Given the description of an element on the screen output the (x, y) to click on. 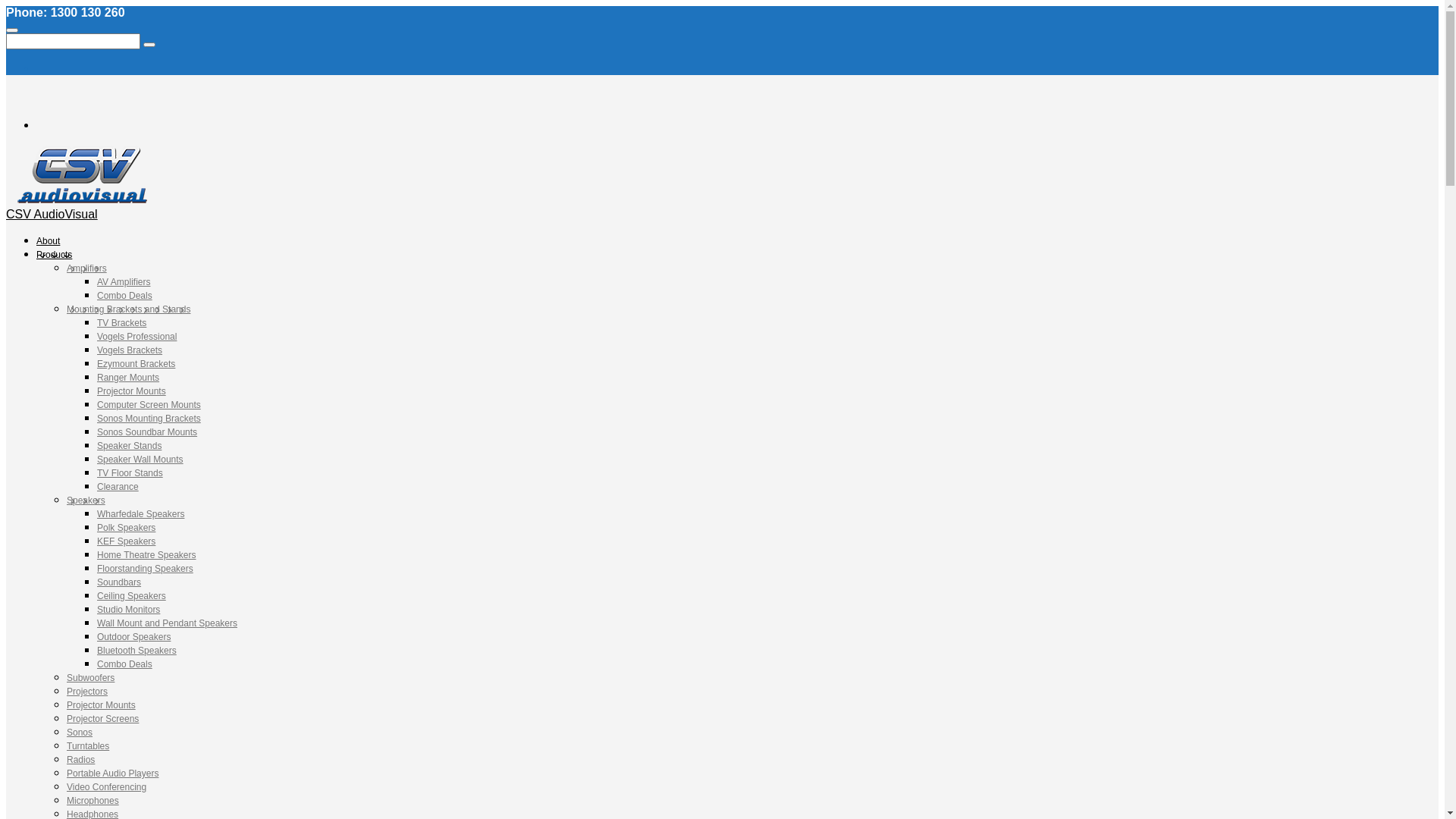
Mounting Brackets and Stands Element type: text (128, 309)
Combo Deals Element type: text (124, 663)
Ranger Mounts Element type: text (128, 377)
Sonos Element type: text (79, 732)
TV Brackets Element type: text (121, 322)
Sonos Mounting Brackets Element type: text (148, 418)
Polk Speakers Element type: text (126, 527)
Studio Monitors Element type: text (128, 609)
Vogels Brackets Element type: text (129, 350)
Wharfedale Speakers Element type: text (140, 513)
Vogels Professional Element type: text (136, 336)
Projector Mounts Element type: text (131, 390)
Subwoofers Element type: text (90, 677)
Home Theatre Speakers Element type: text (146, 554)
Floorstanding Speakers Element type: text (145, 568)
KEF Speakers Element type: text (126, 541)
Clearance Element type: text (117, 486)
Projector Mounts Element type: text (100, 704)
Soundbars Element type: text (119, 582)
Radios Element type: text (80, 759)
AV Amplifiers Element type: text (123, 281)
Products Element type: text (54, 254)
Wall Mount and Pendant Speakers Element type: text (167, 623)
Ceiling Speakers Element type: text (131, 595)
Amplifiers Element type: text (86, 268)
Computer Screen Mounts Element type: text (148, 404)
Projectors Element type: text (86, 691)
Outdoor Speakers Element type: text (133, 636)
Ezymount Brackets Element type: text (136, 363)
Portable Audio Players Element type: text (112, 773)
Sonos Soundbar Mounts Element type: text (147, 431)
Video Conferencing Element type: text (106, 786)
Combo Deals Element type: text (124, 295)
Turntables Element type: text (87, 745)
About Element type: text (47, 240)
Speaker Stands Element type: text (129, 445)
TV Floor Stands Element type: text (130, 472)
CSV AudioVisual Element type: text (51, 213)
Speaker Wall Mounts Element type: text (140, 459)
Projector Screens Element type: text (102, 718)
Bluetooth Speakers Element type: text (136, 650)
Microphones Element type: text (92, 800)
Speakers Element type: text (85, 500)
